Given the description of an element on the screen output the (x, y) to click on. 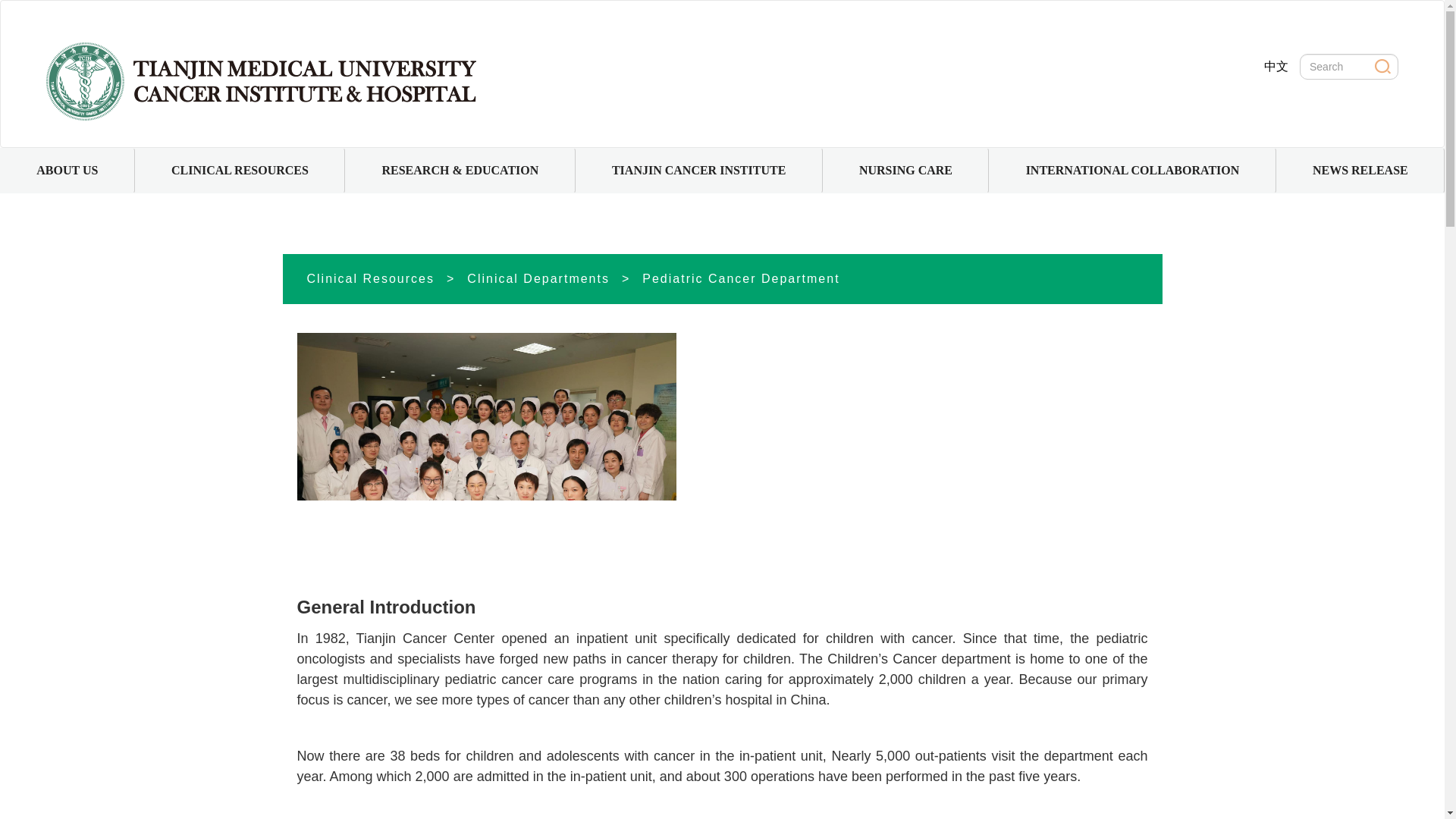
TIANJIN CANCER INSTITUTE (698, 170)
ABOUT US (66, 170)
CLINICAL RESOURCES (239, 170)
NURSING CARE (905, 170)
